Given the description of an element on the screen output the (x, y) to click on. 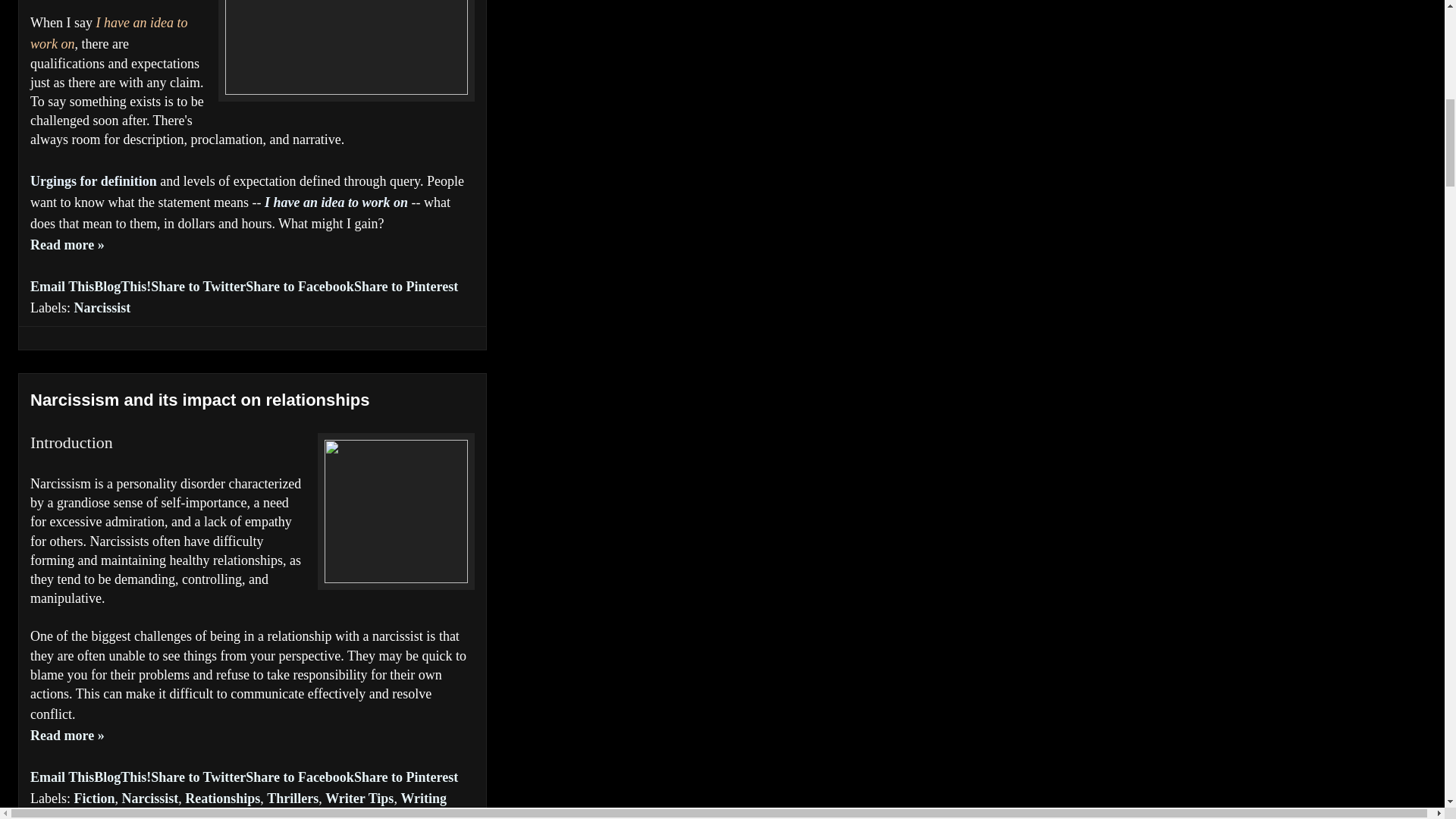
Share to Pinterest (405, 286)
Share to Facebook (299, 776)
Narcissism and its impact on relationships (199, 399)
BlogThis! (122, 776)
Writer Tips (358, 798)
Narcissist (148, 798)
Share to Facebook (299, 286)
Email This (62, 286)
What is it to Create? AI Assisted Artforms (67, 244)
Share to Pinterest (405, 776)
Share to Pinterest (405, 776)
Email This (62, 776)
Fiction (94, 798)
Reationships (222, 798)
Narcissism and its impact on relationships (67, 735)
